Given the description of an element on the screen output the (x, y) to click on. 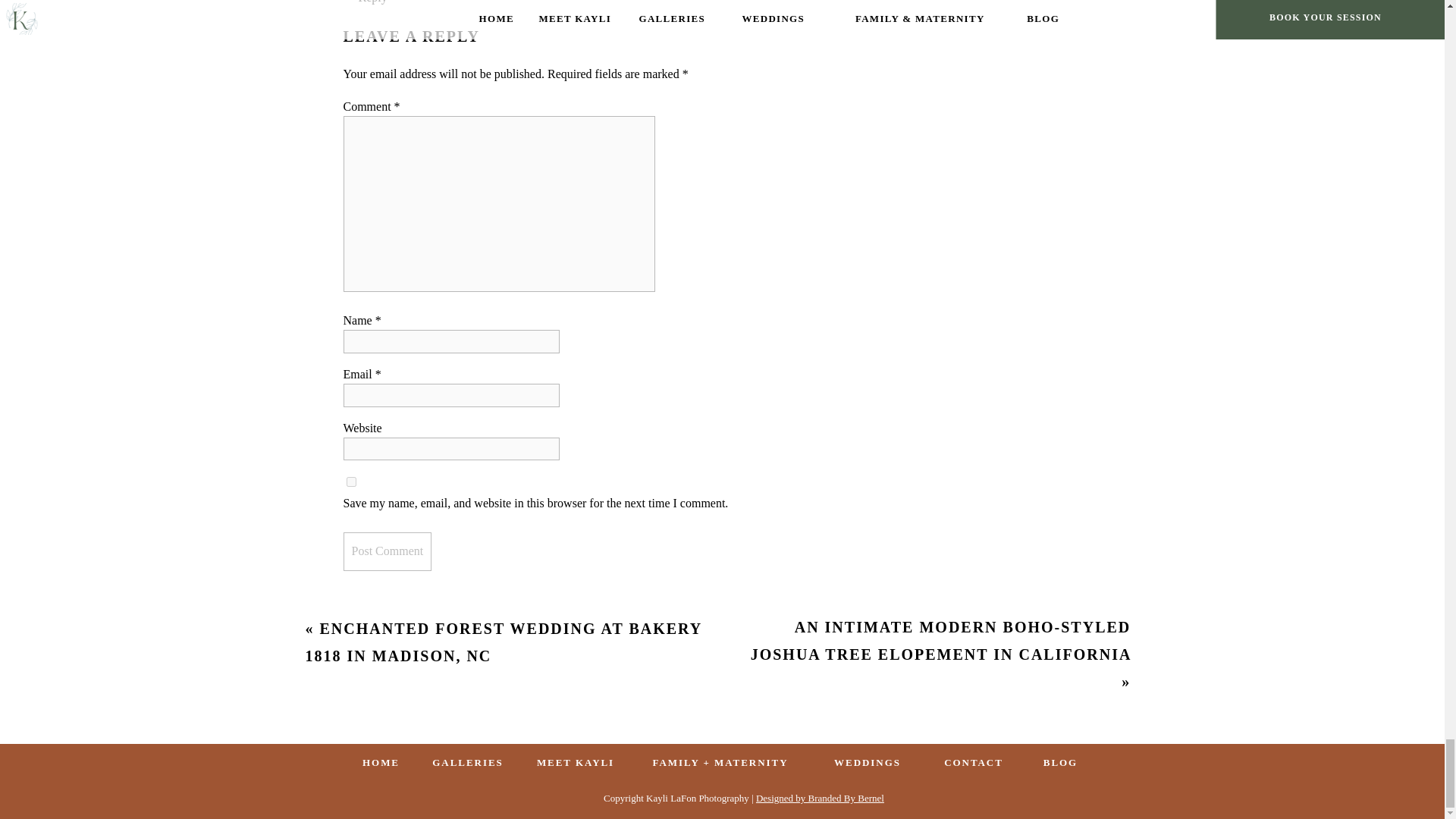
CONTACT (973, 763)
ENCHANTED FOREST WEDDING AT BAKERY 1818 IN MADISON, NC (502, 641)
WEDDINGS (867, 763)
Post Comment (386, 551)
MEET KAYLI (575, 763)
BLOG (1060, 763)
Designed by Branded By Bernel (819, 797)
Reply (372, 2)
yes (350, 481)
GALLERIES (468, 763)
